Given the description of an element on the screen output the (x, y) to click on. 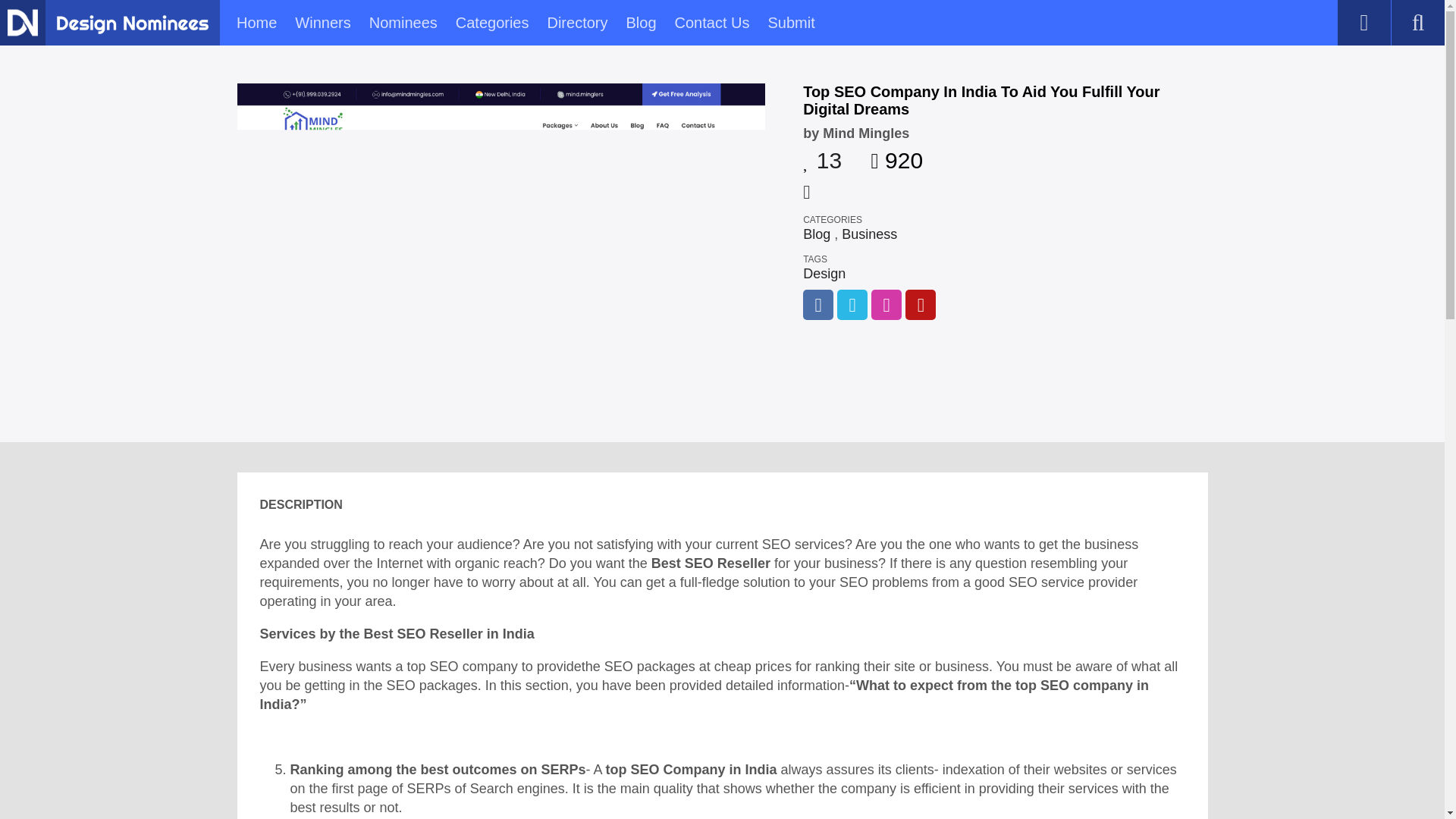
Winners (322, 22)
Design (824, 273)
Contact Us (712, 22)
Design Nominees (22, 22)
Nominees (403, 22)
Directory (577, 22)
13 (822, 155)
Categories (492, 22)
Design Nominees (132, 24)
Submit (790, 22)
